Given the description of an element on the screen output the (x, y) to click on. 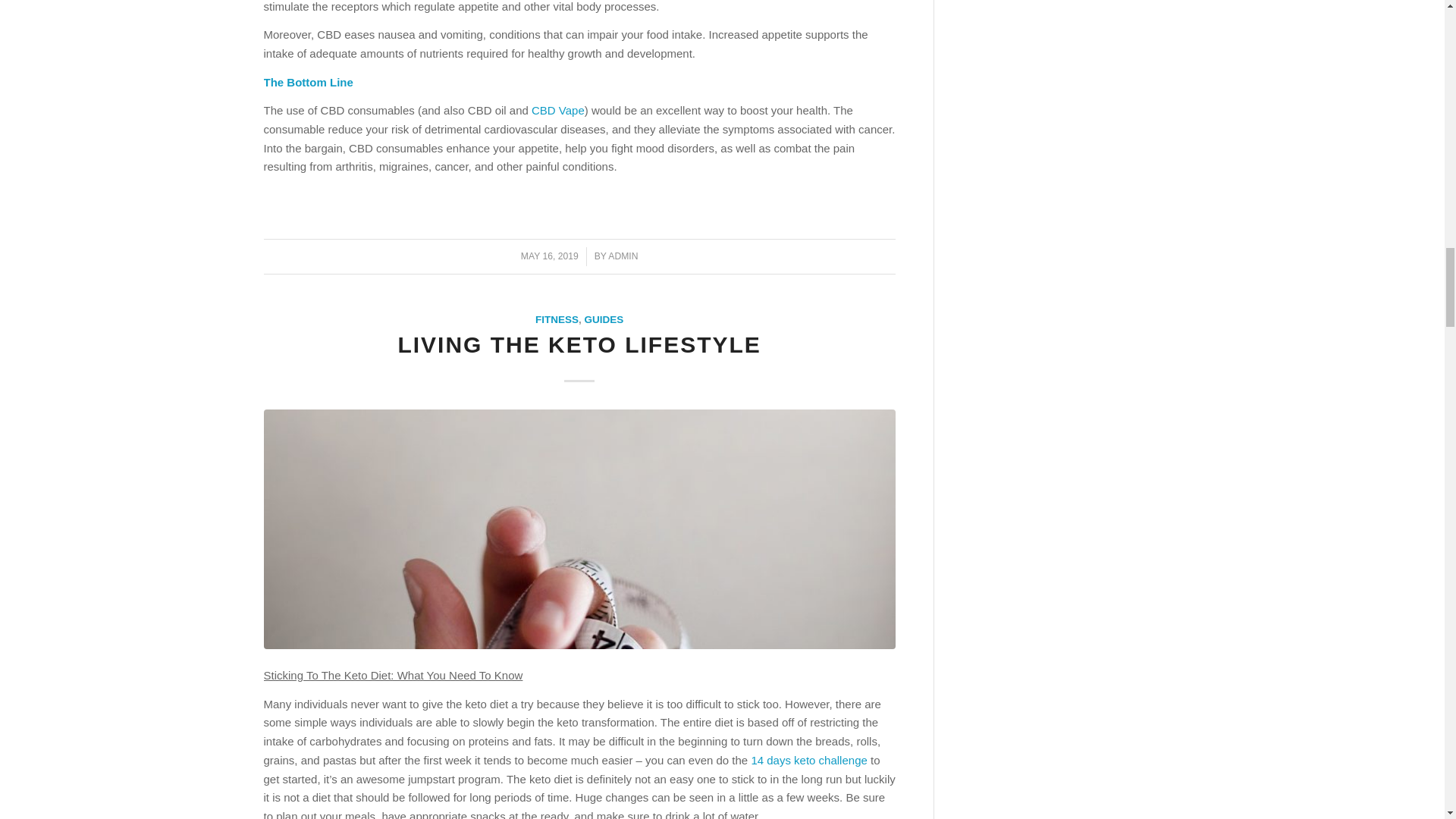
ADMIN (622, 255)
CBD Vape (558, 110)
FITNESS (556, 319)
Posts by admin (622, 255)
LIVING THE KETO LIFESTYLE (578, 344)
Permanent Link: Living The Keto Lifestyle (578, 344)
14 days keto challenge (808, 759)
GUIDES (604, 319)
